Given the description of an element on the screen output the (x, y) to click on. 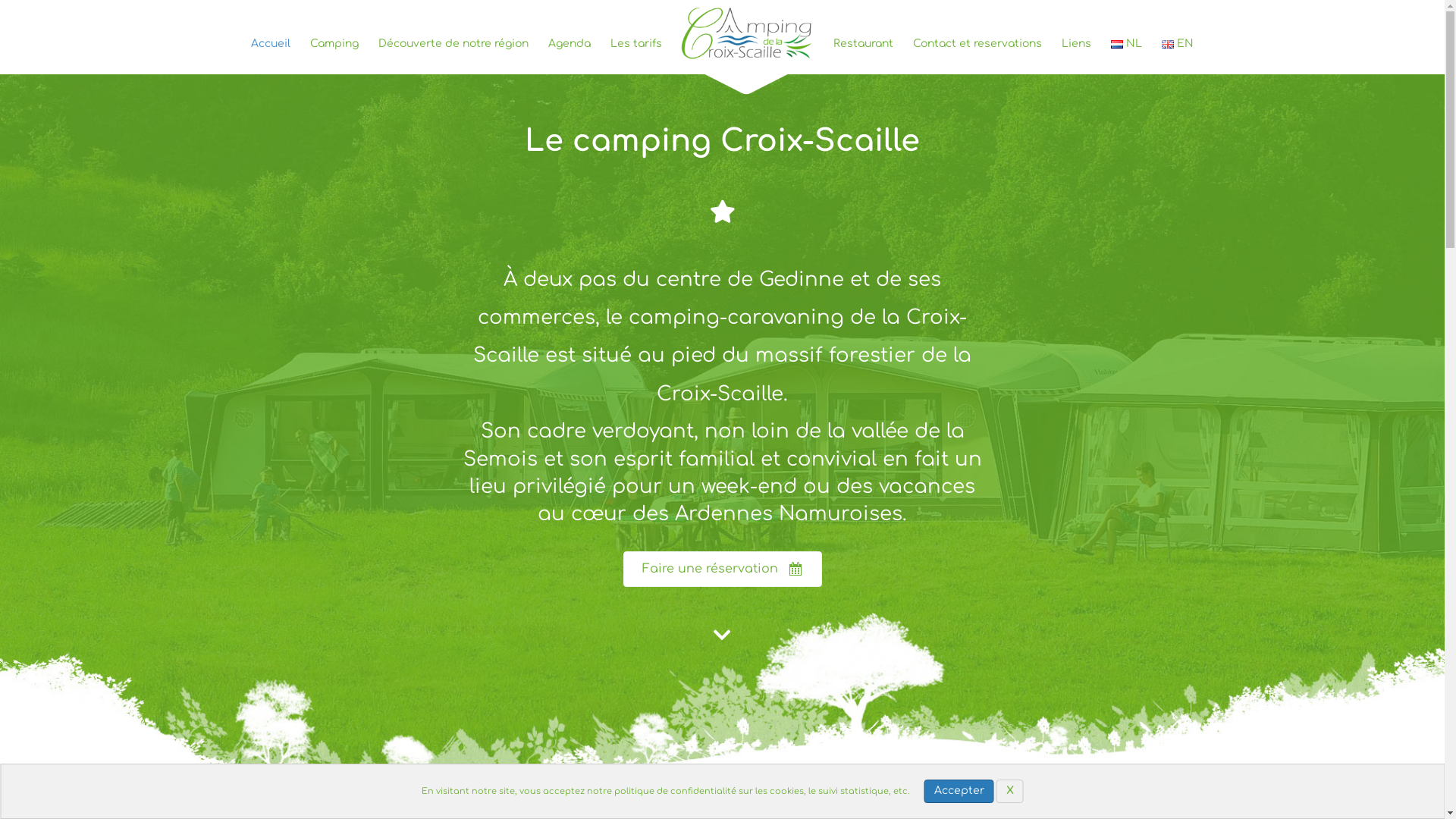
Restaurant Element type: text (863, 43)
EN Element type: text (1177, 43)
Accepter Element type: text (958, 791)
Accueil Element type: text (270, 43)
Camping Element type: text (334, 43)
X Element type: text (1009, 791)
NL Element type: text (1126, 43)
Contact et reservations Element type: text (977, 43)
Les tarifs Element type: text (636, 43)
Liens Element type: text (1076, 43)
Agenda Element type: text (569, 43)
